Given the description of an element on the screen output the (x, y) to click on. 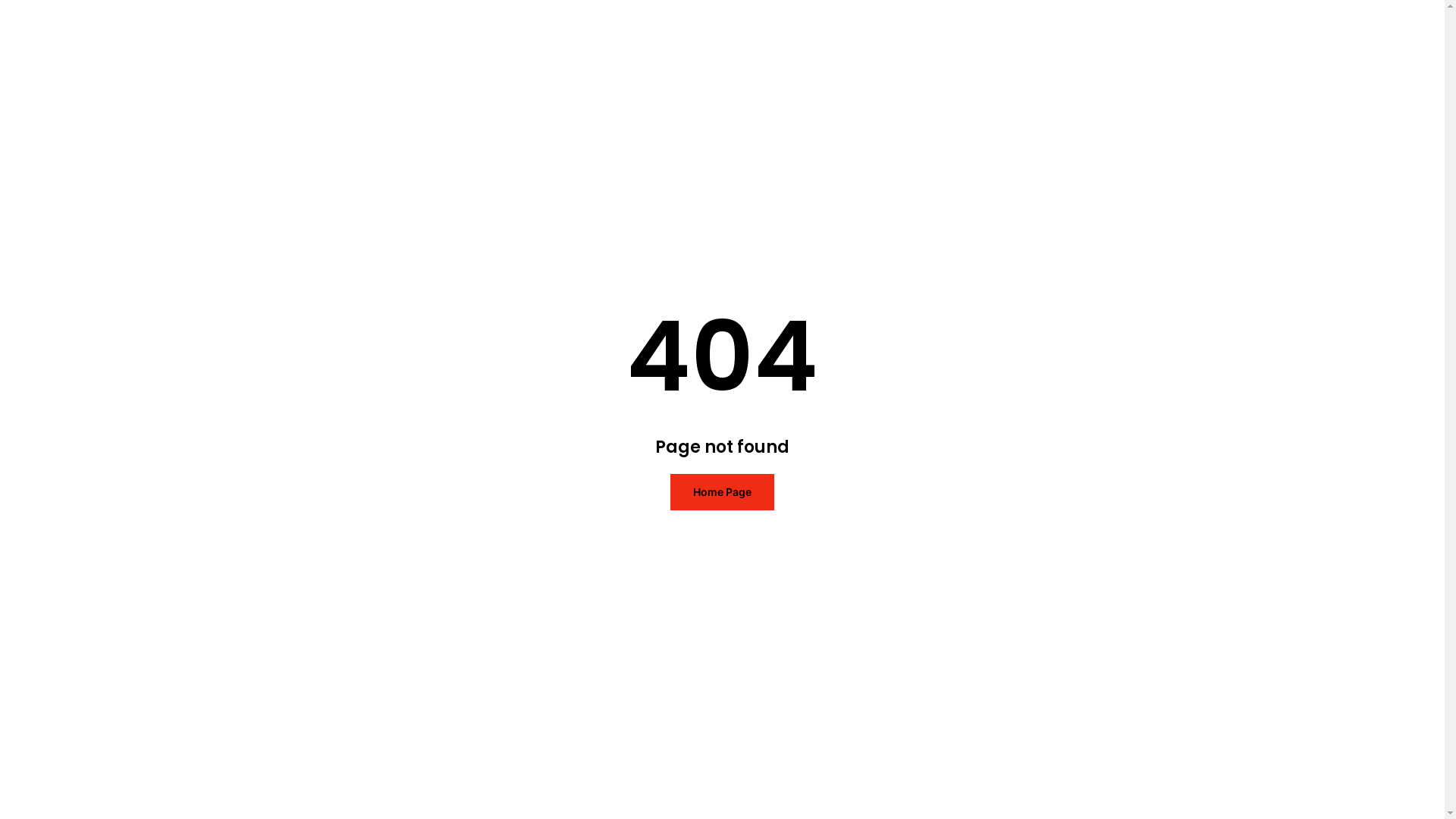
Home Page Element type: text (722, 491)
